Given the description of an element on the screen output the (x, y) to click on. 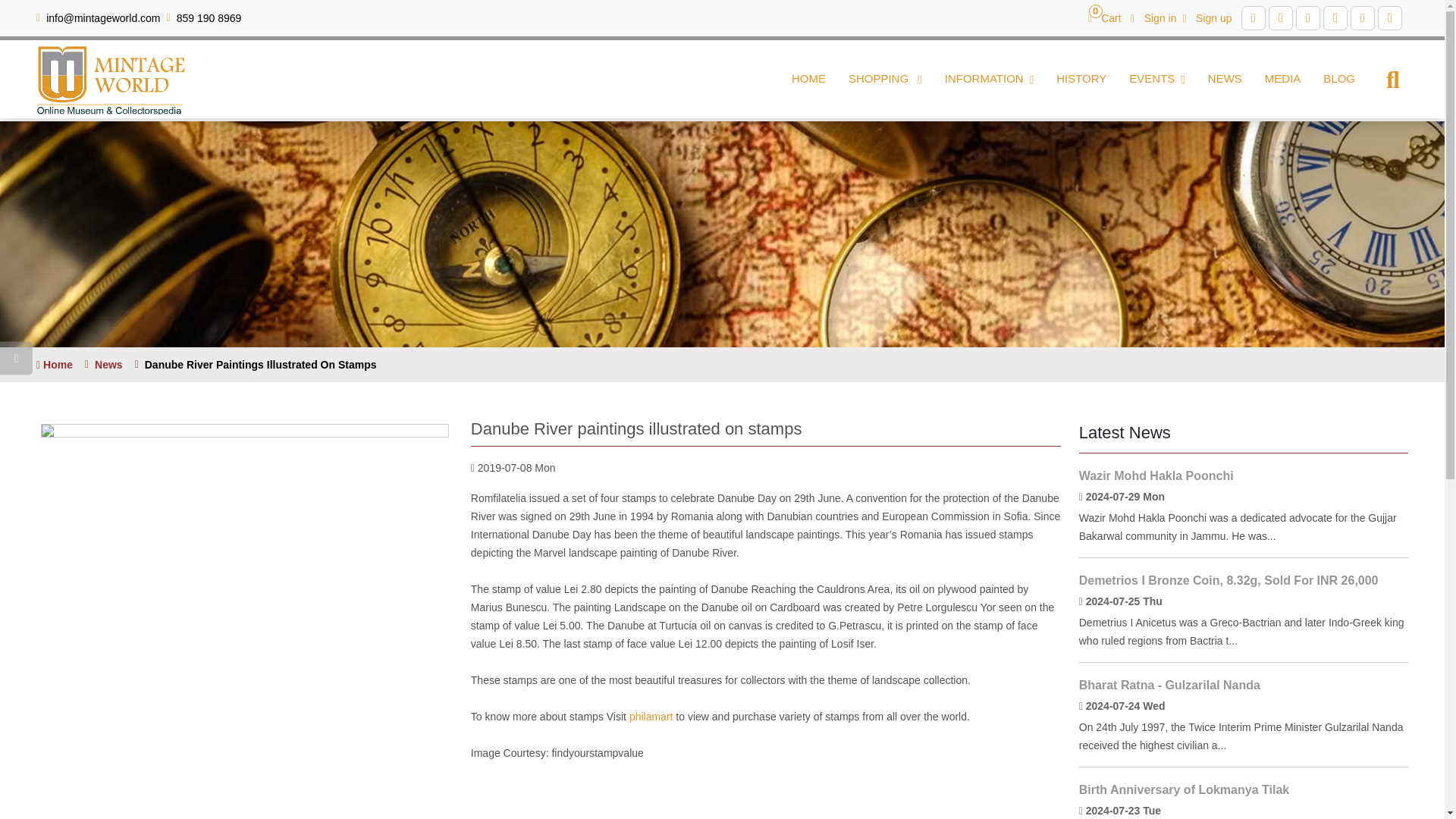
Sign in (1153, 18)
859 190 8969 (208, 18)
Sign up (1206, 18)
SHOPPING (884, 78)
INFORMATION (988, 78)
Sign up (1206, 18)
Sign in (1153, 18)
Cart (1104, 18)
